Given the description of an element on the screen output the (x, y) to click on. 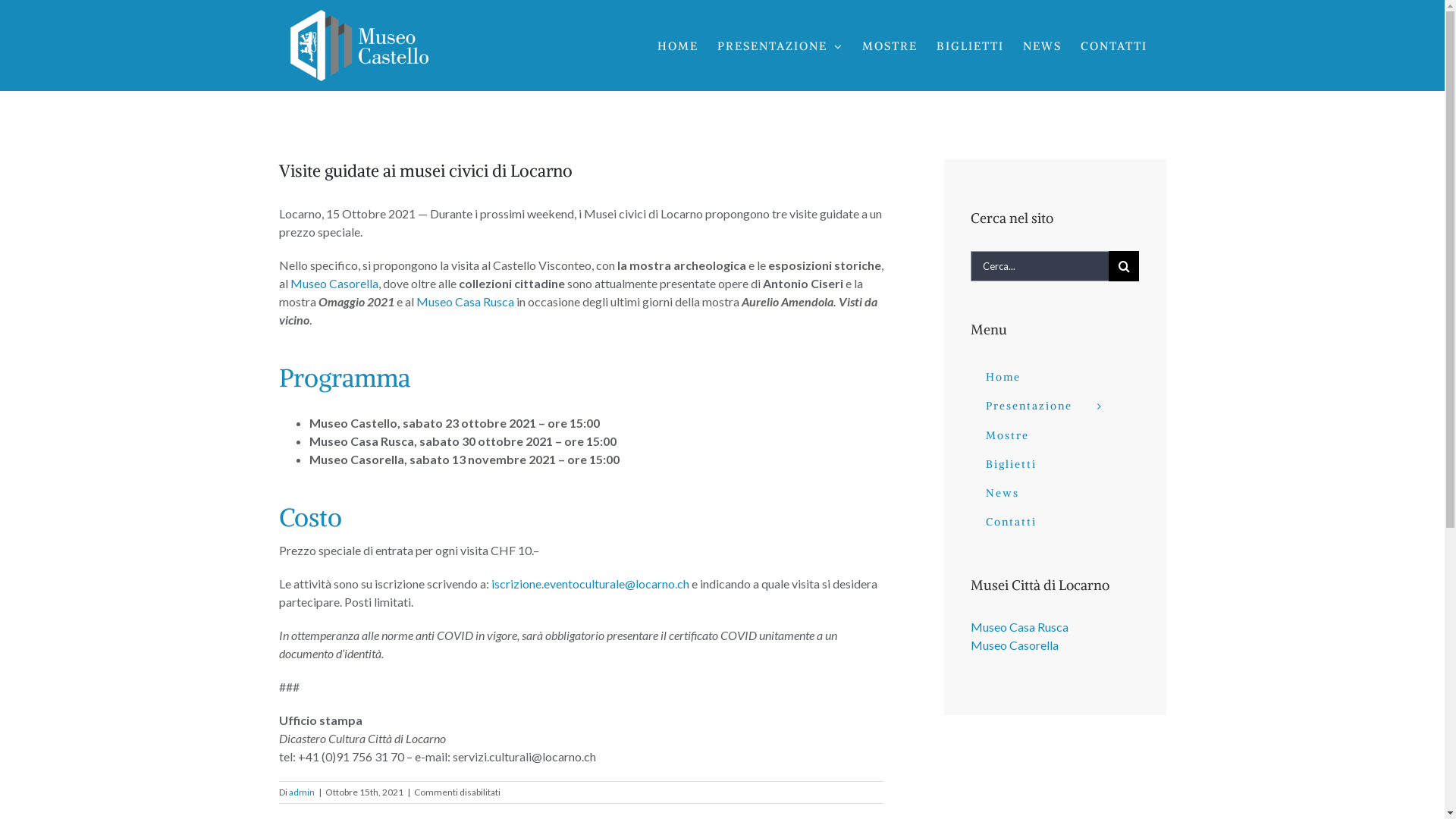
iscrizione.eventoculturale@locarno.ch Element type: text (590, 583)
Museo Casa Rusca Element type: text (1019, 626)
MOSTRE Element type: text (888, 45)
HOME Element type: text (676, 45)
Presentazione Element type: text (1054, 406)
Contatti Element type: text (1054, 522)
News Element type: text (1054, 493)
Biglietti Element type: text (1054, 464)
admin Element type: text (300, 791)
PRESENTAZIONE Element type: text (780, 45)
BIGLIETTI Element type: text (969, 45)
CONTATTI Element type: text (1112, 45)
NEWS Element type: text (1041, 45)
Mostre Element type: text (1054, 435)
Home Element type: text (1054, 377)
Museo Casorella Element type: text (333, 283)
Museo Casorella Element type: text (1014, 644)
Museo Casa Rusca Element type: text (464, 301)
